Given the description of an element on the screen output the (x, y) to click on. 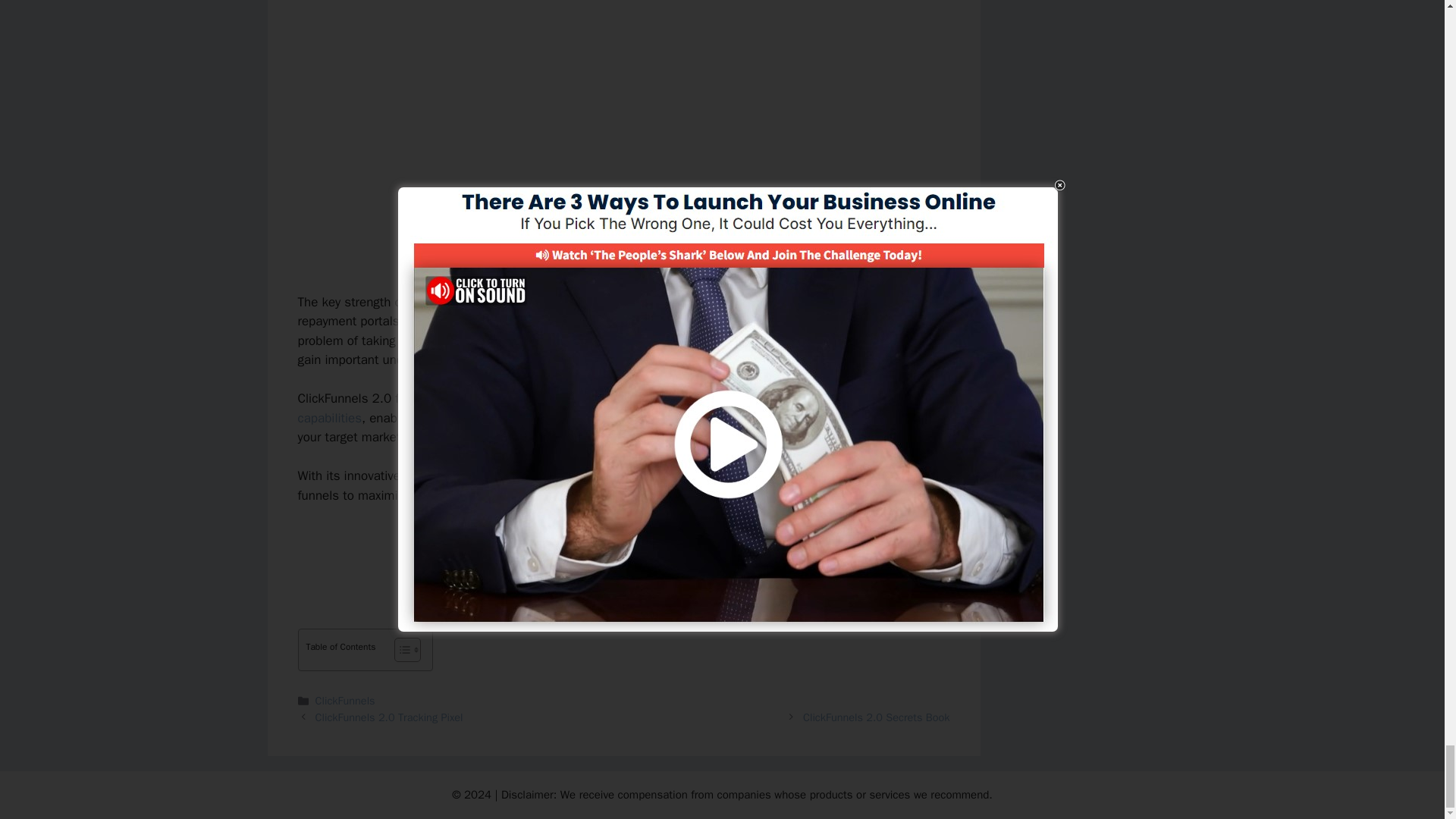
analytics and tracking (464, 475)
Start Your ClickFunnels 2.0 Free Trial Here (623, 547)
data driven choices (721, 475)
